Given the description of an element on the screen output the (x, y) to click on. 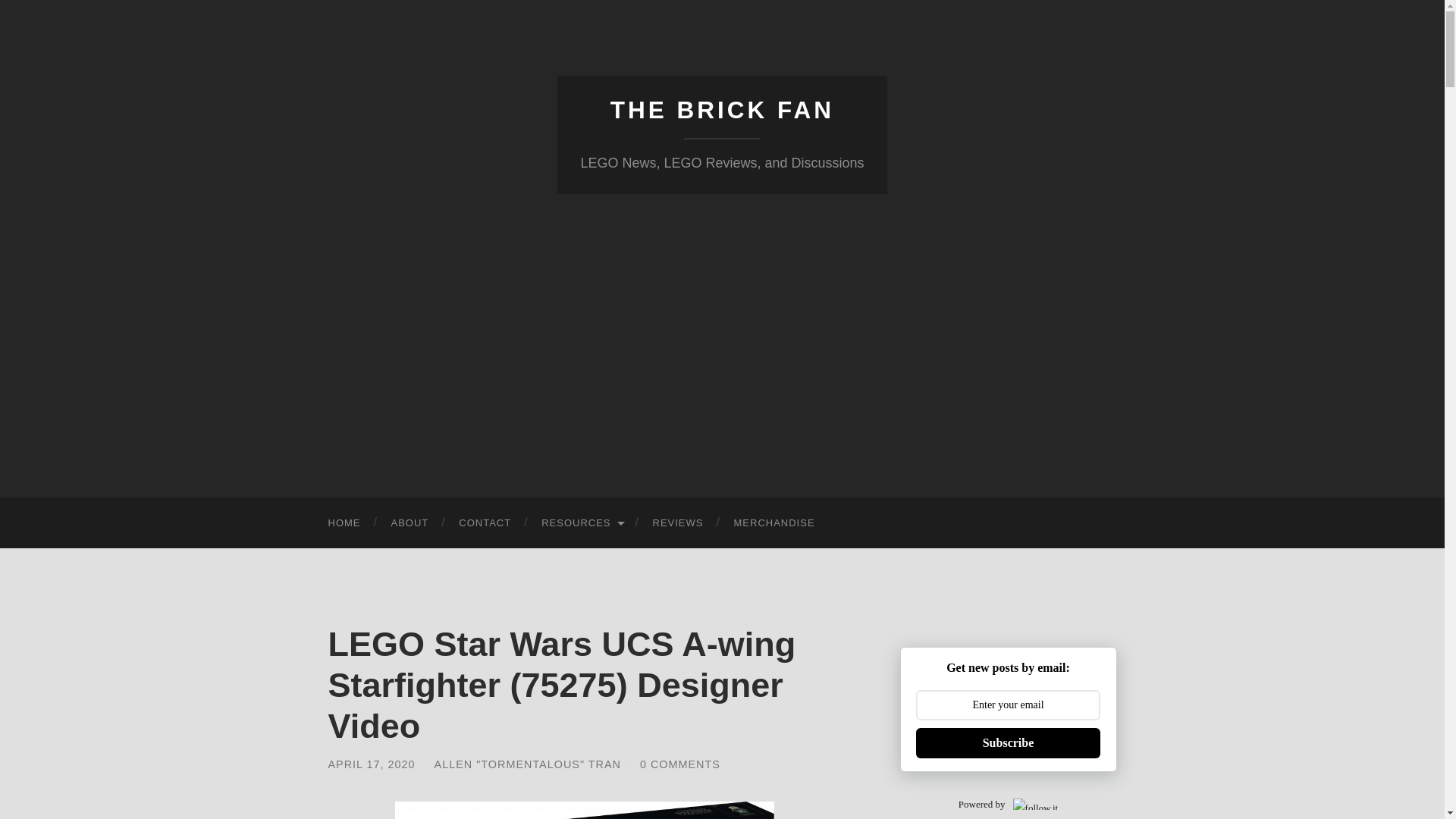
REVIEWS (678, 522)
MERCHANDISE (774, 522)
0 COMMENTS (680, 764)
CONTACT (484, 522)
Posts by Allen "Tormentalous" Tran (527, 764)
APRIL 17, 2020 (370, 764)
ALLEN "TORMENTALOUS" TRAN (527, 764)
THE BRICK FAN (722, 109)
ABOUT (409, 522)
HOME (344, 522)
RESOURCES (581, 522)
